Given the description of an element on the screen output the (x, y) to click on. 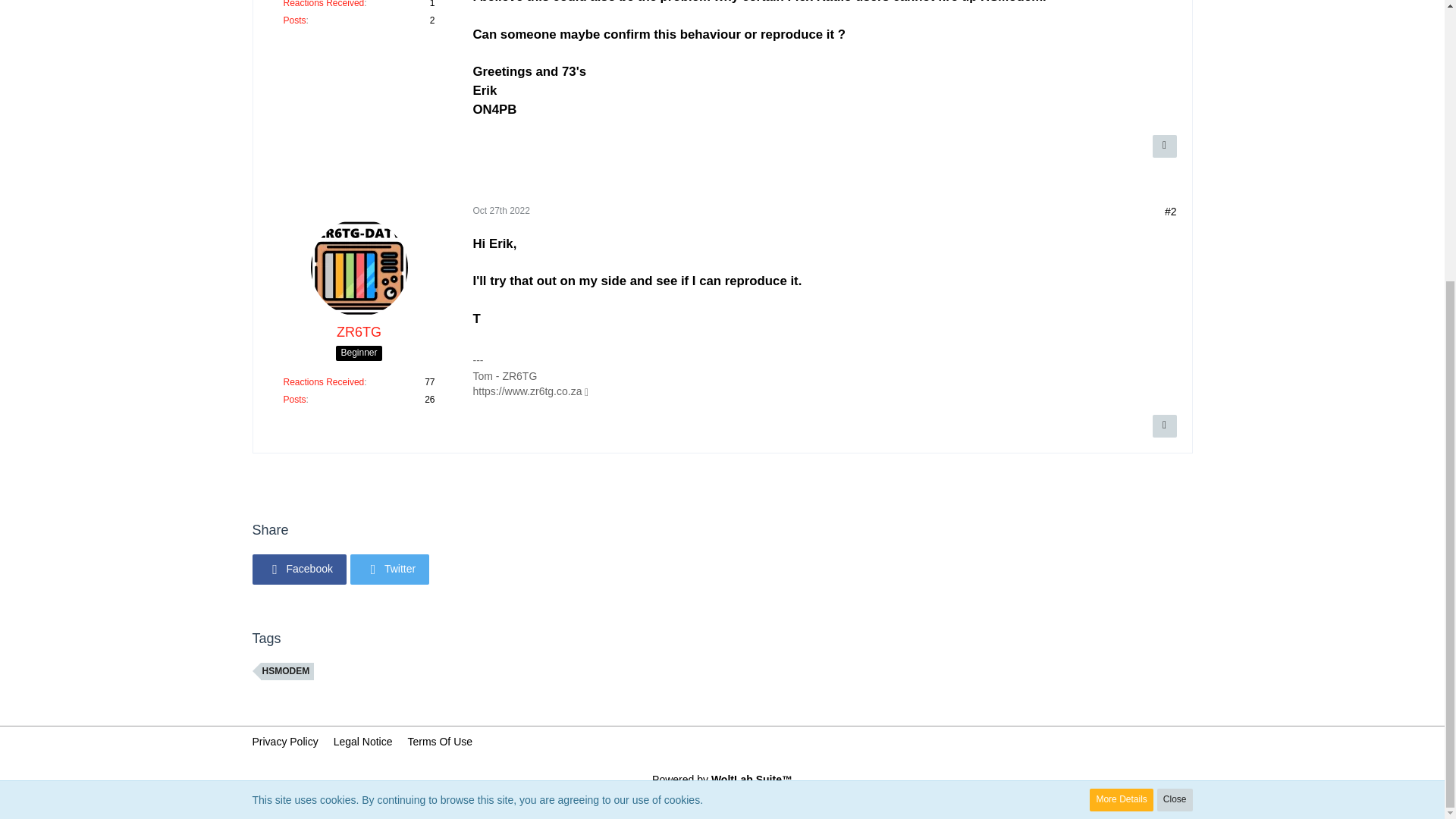
Posts (294, 398)
Posts (294, 20)
ZR6TG (358, 332)
Twitter (389, 569)
Reactions Received (324, 4)
HSMODEM (287, 671)
Facebook (298, 569)
Privacy Policy (284, 741)
Reactions Received (324, 381)
Oct 27th 2022 (501, 210)
Facebook (298, 569)
Twitter (389, 569)
